Given the description of an element on the screen output the (x, y) to click on. 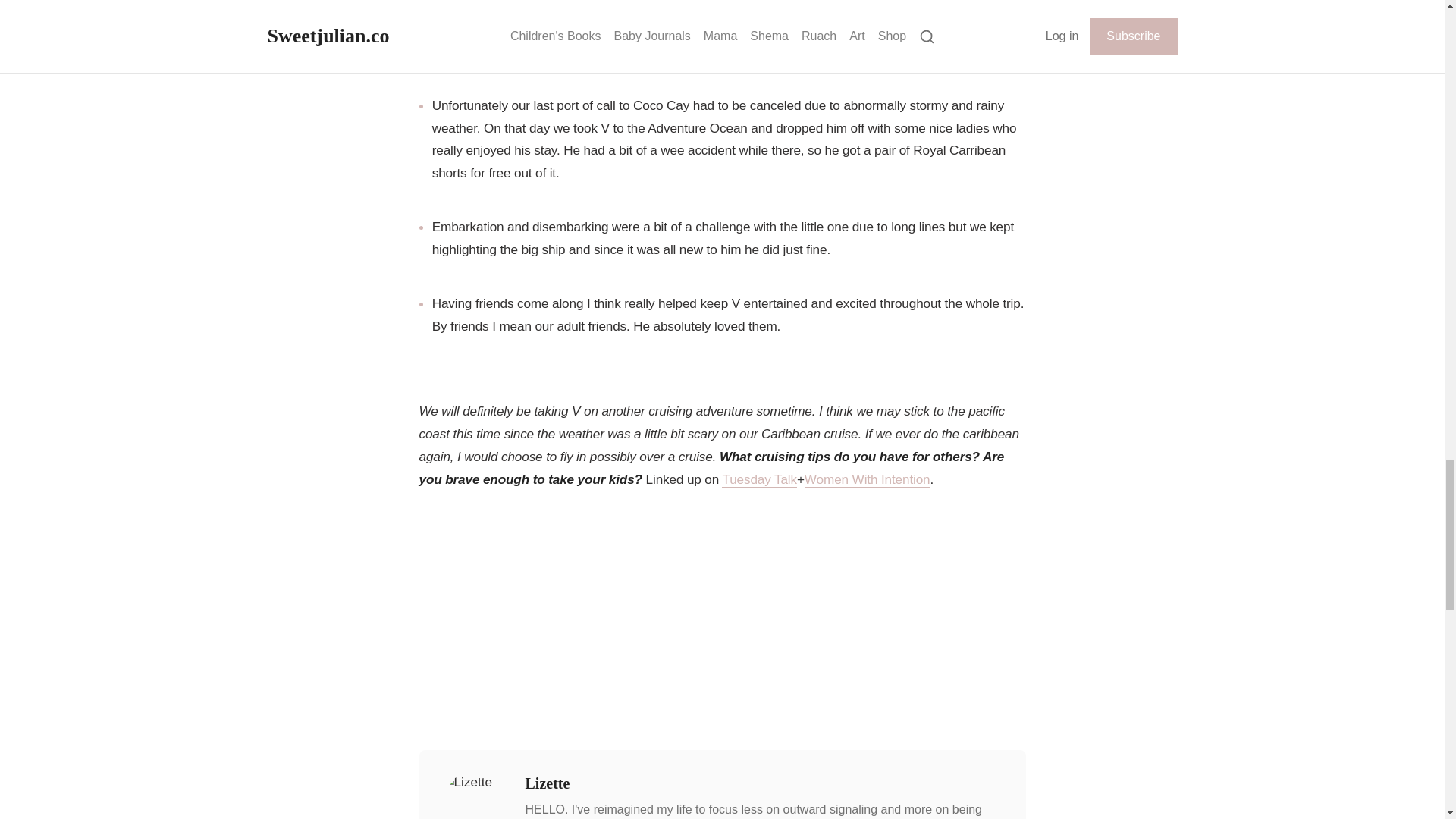
Tuesday Talk (759, 479)
Women With Intention (867, 479)
Lizette (763, 783)
